Given the description of an element on the screen output the (x, y) to click on. 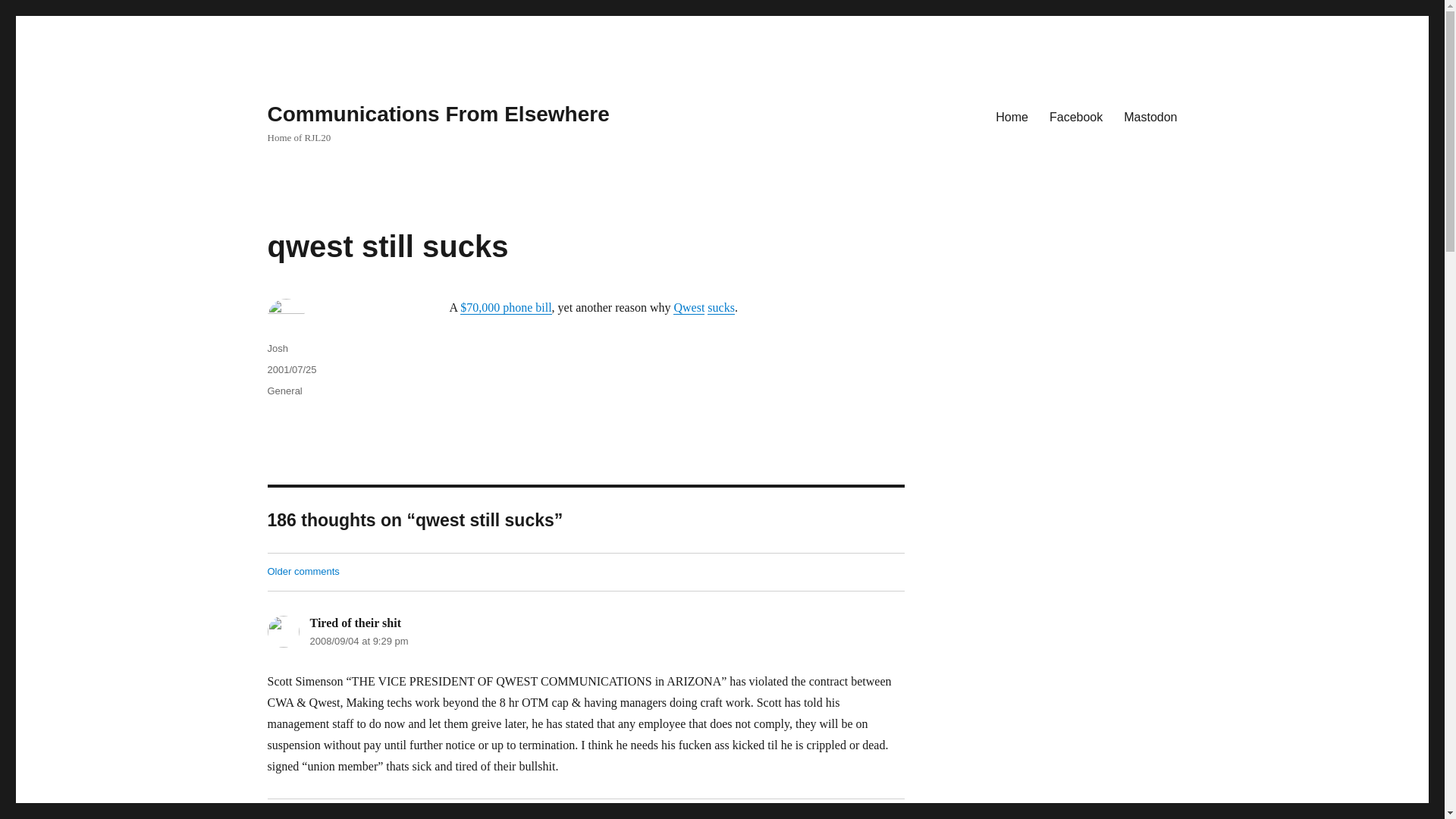
Home (1012, 116)
General (283, 390)
Communications From Elsewhere (437, 114)
Qwest (688, 307)
Facebook (1076, 116)
sucks (721, 307)
Josh (276, 348)
Older comments (302, 571)
Mastodon (1150, 116)
